Given the description of an element on the screen output the (x, y) to click on. 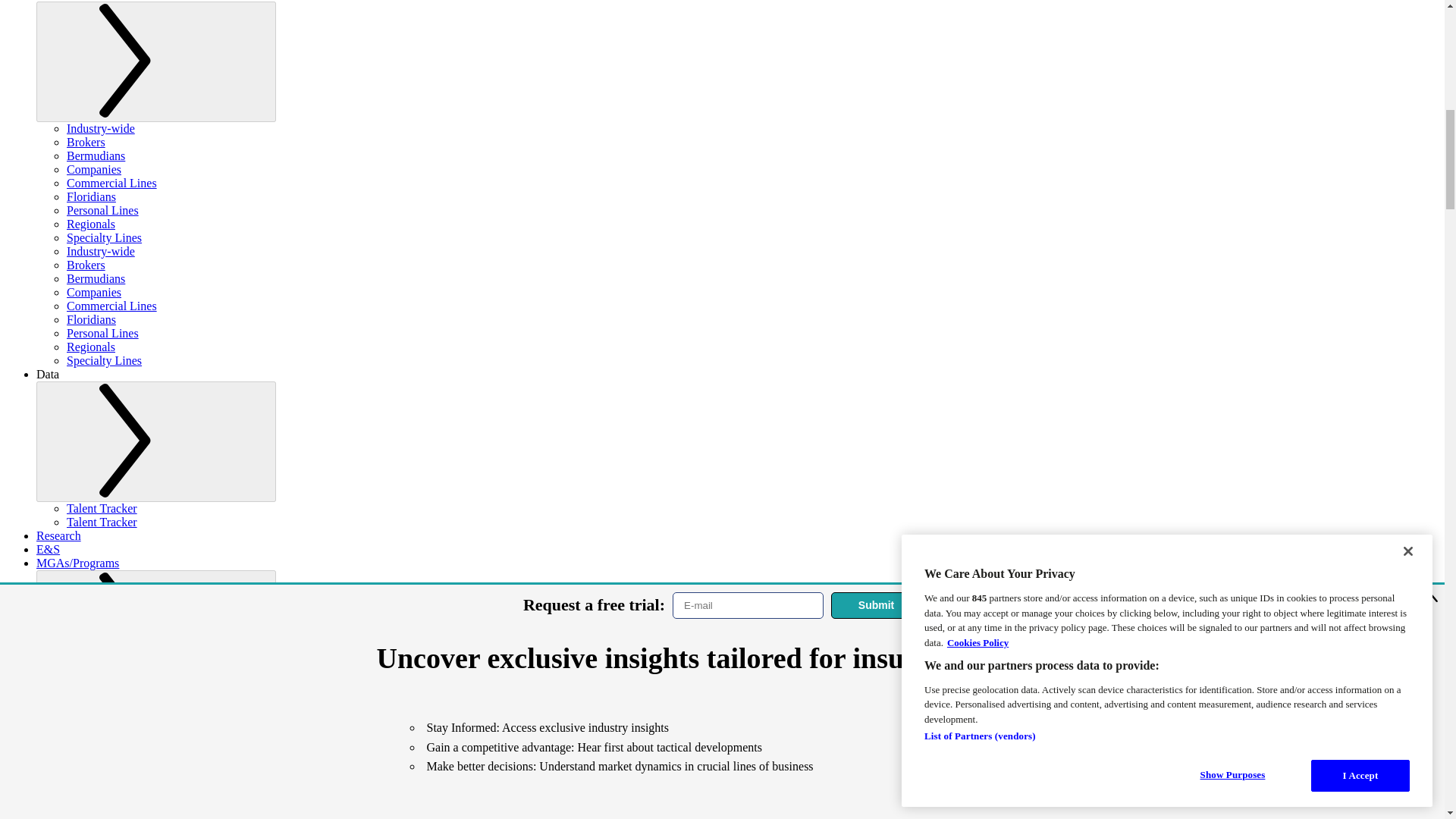
Regionals (90, 346)
Companies (93, 291)
Executive Business Club (126, 710)
Specialty Lines (103, 359)
Industry-wide (100, 128)
Personal Lines (102, 210)
Brokers (85, 141)
Industry-wide (100, 250)
Floridians (91, 318)
Bermudians (95, 278)
Brokers (85, 264)
Commercial Lines (111, 182)
Floridians (91, 196)
Companies (93, 169)
